Given the description of an element on the screen output the (x, y) to click on. 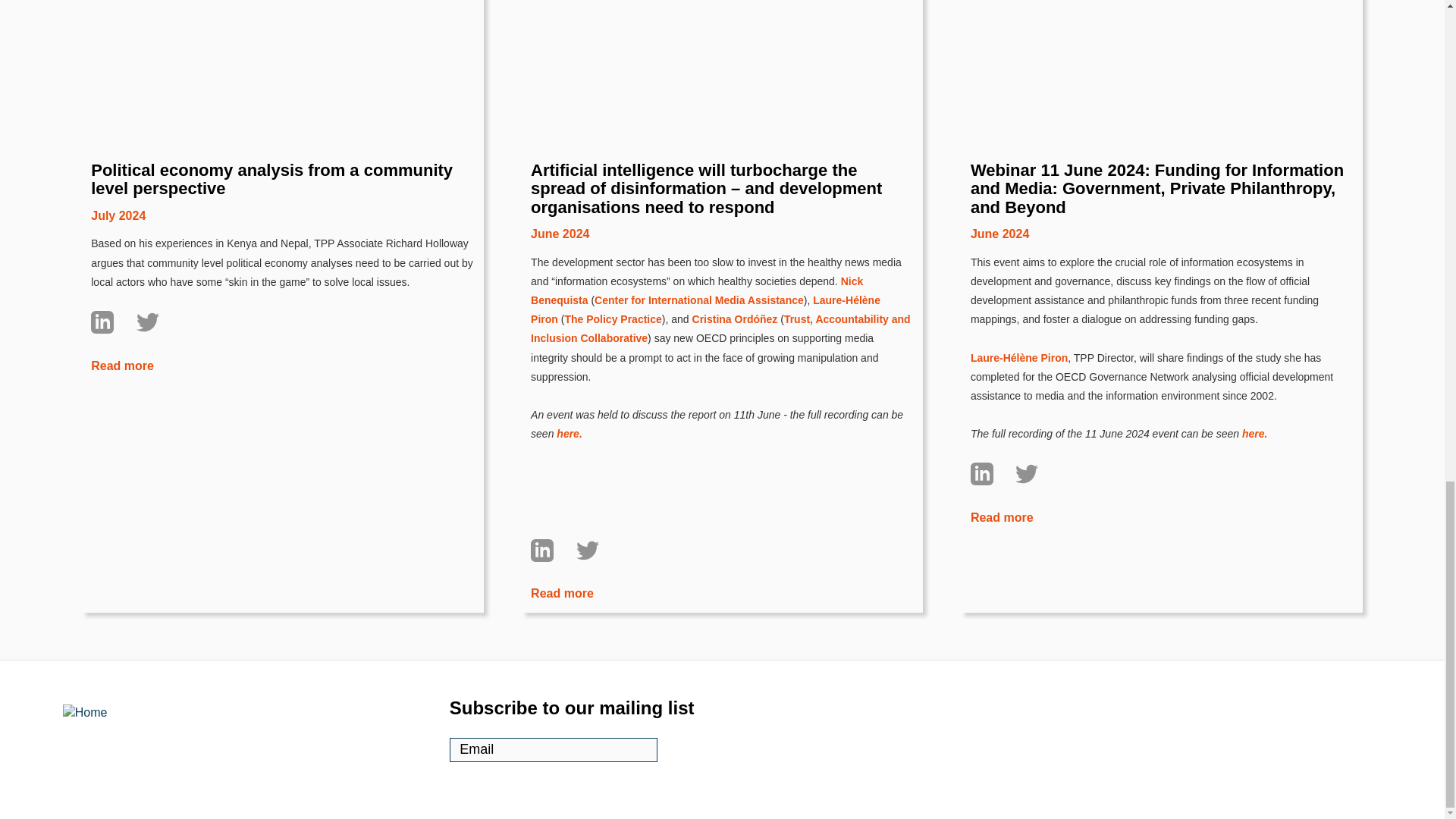
Read more (122, 277)
The Policy Practice (612, 232)
Nick Benequista (697, 202)
Home (128, 687)
Center for International Media Assistance (698, 212)
